Given the description of an element on the screen output the (x, y) to click on. 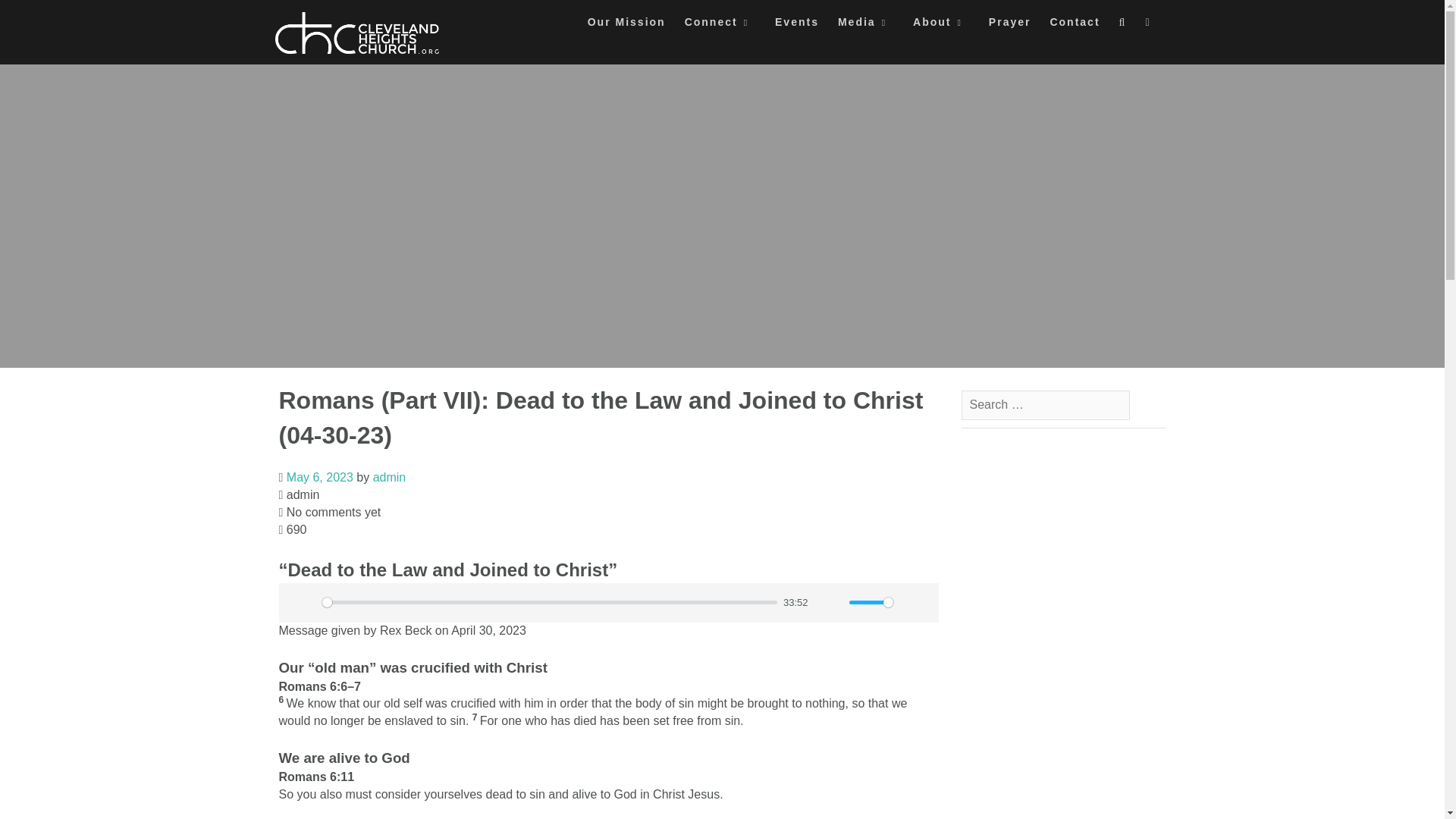
Play (298, 602)
admin (389, 477)
0 (549, 602)
Media (865, 25)
Prayer (1009, 25)
Contact (1074, 25)
Connect (719, 25)
About (940, 25)
Mute (825, 602)
Search (26, 16)
